Given the description of an element on the screen output the (x, y) to click on. 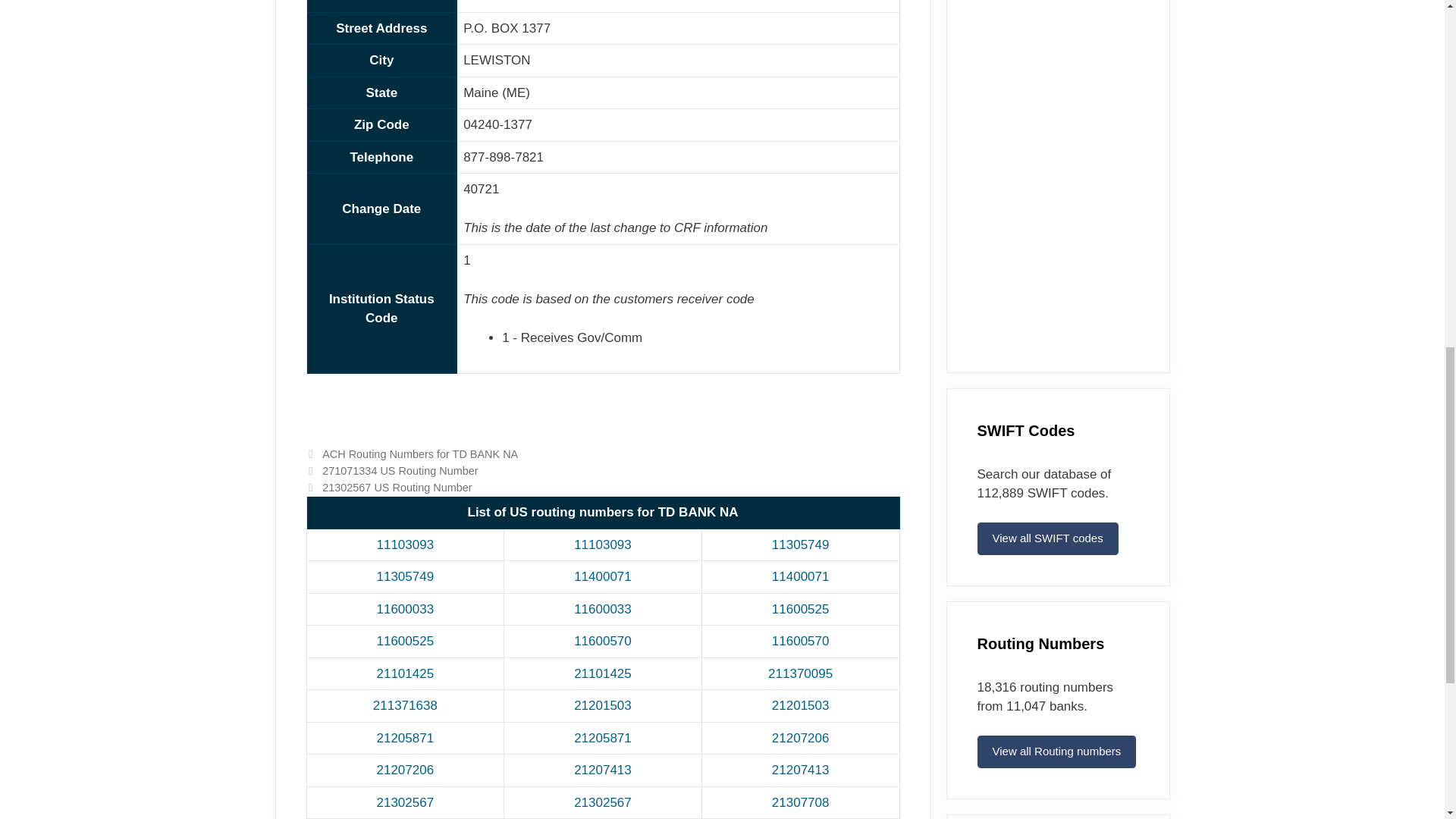
11600525 (404, 640)
11600570 (602, 640)
211370095 (800, 673)
211371638 (405, 705)
21201503 (800, 705)
ACH Routing Numbers for TD BANK NA (419, 453)
11103093 (404, 544)
11103093 (602, 544)
21201503 (602, 705)
21302567 US Routing Number (396, 487)
